Given the description of an element on the screen output the (x, y) to click on. 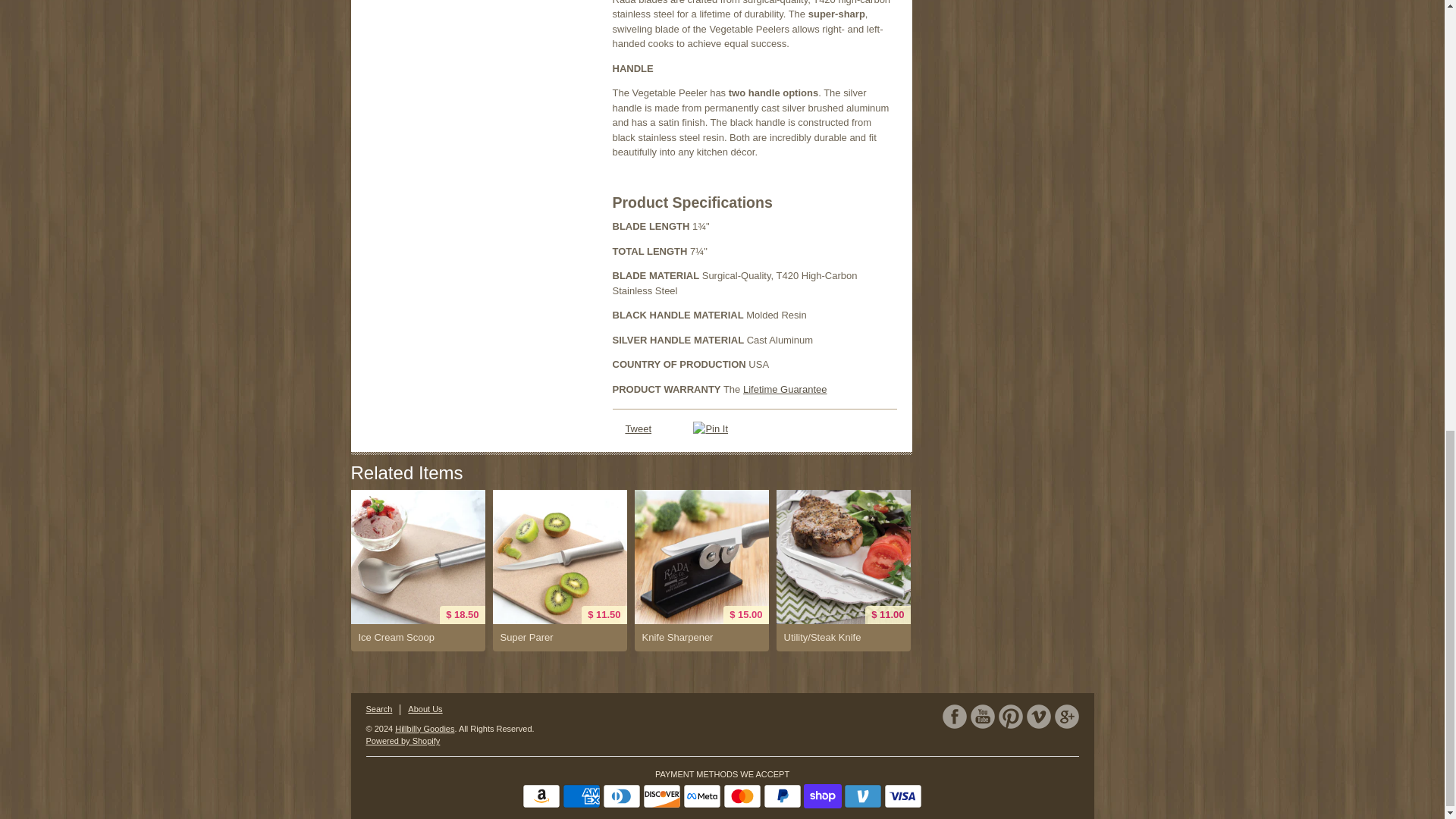
Search (378, 708)
Knife Sharpener (700, 556)
Super Parer (560, 637)
Related Items (406, 472)
Tweet (637, 428)
Hillbilly Goodies on Vimeo (1038, 716)
Hillbilly Goodies on YouTube (982, 716)
Super Parer (560, 556)
Ice Cream Scoop (417, 637)
Pin It (710, 428)
Lifetime Guarantee (784, 389)
Ice Cream Scoop (417, 556)
Knife Sharpener (701, 637)
Hillbilly Goodies on Pinterest (1009, 716)
Hillbilly Goodies on Facebook (954, 716)
